Given the description of an element on the screen output the (x, y) to click on. 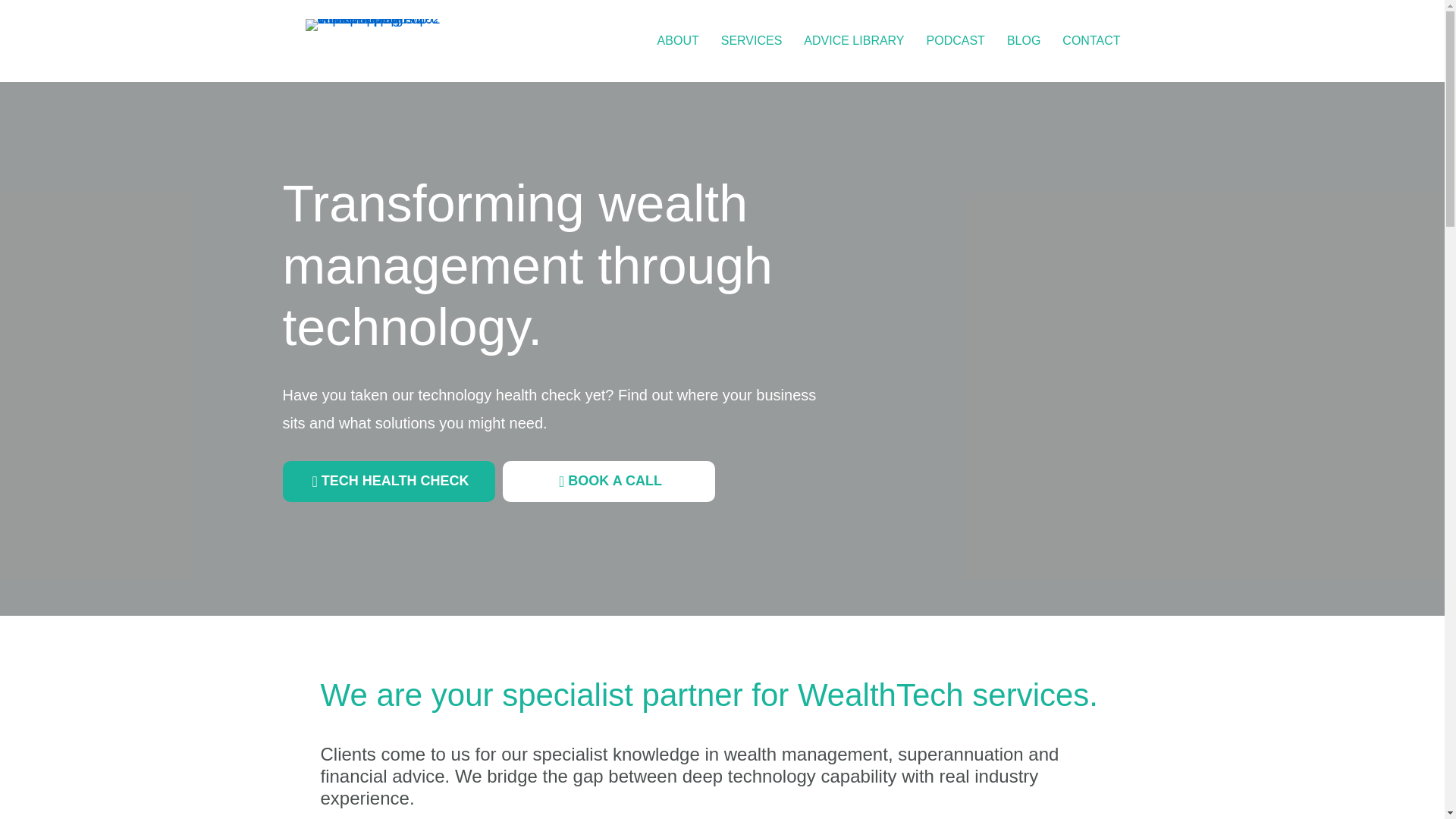
ABOUT (678, 40)
BOOK A CALL (608, 481)
BLOG (1023, 40)
SERVICES (751, 40)
ADVICE LIBRARY (853, 40)
PODCAST (955, 40)
CONTACT (1091, 40)
TECH HEALTH CHECK (388, 481)
cropped-Finura-Group-Full-White-BG.png (372, 24)
